Given the description of an element on the screen output the (x, y) to click on. 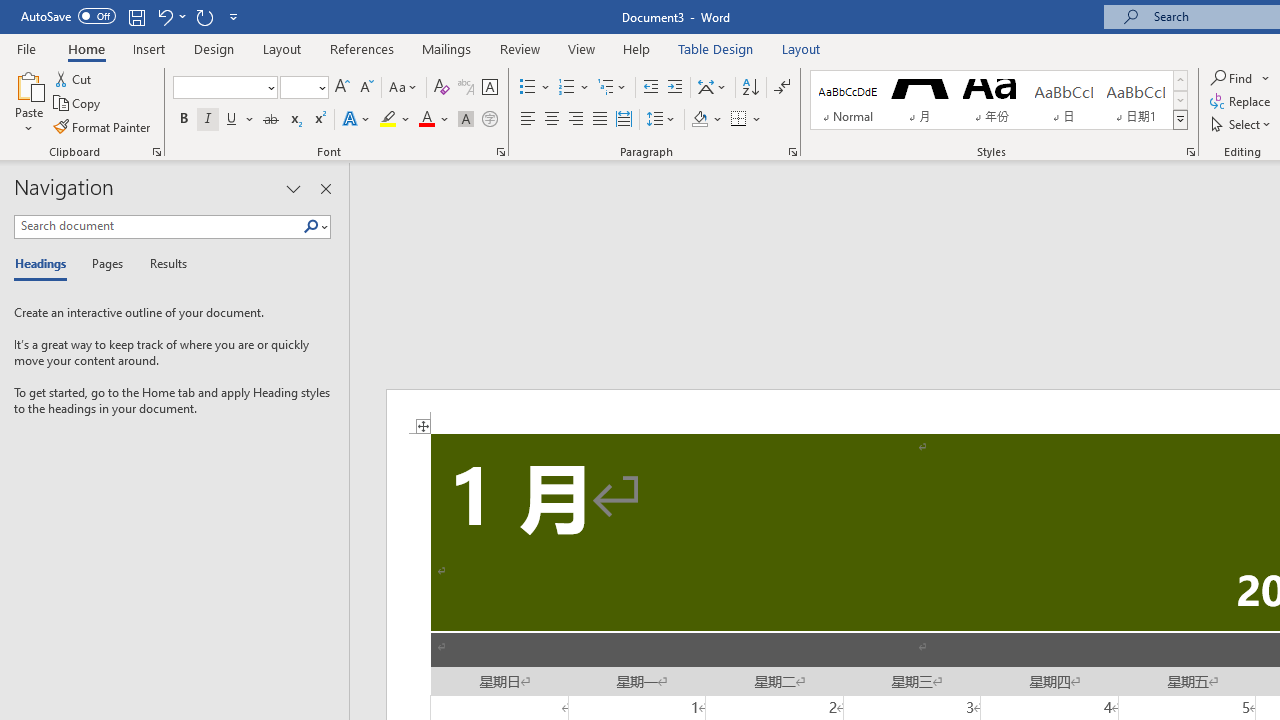
Text Highlight Color Yellow (388, 119)
Center (552, 119)
Multilevel List (613, 87)
Select (1242, 124)
Pages (105, 264)
Cut (73, 78)
